Given the description of an element on the screen output the (x, y) to click on. 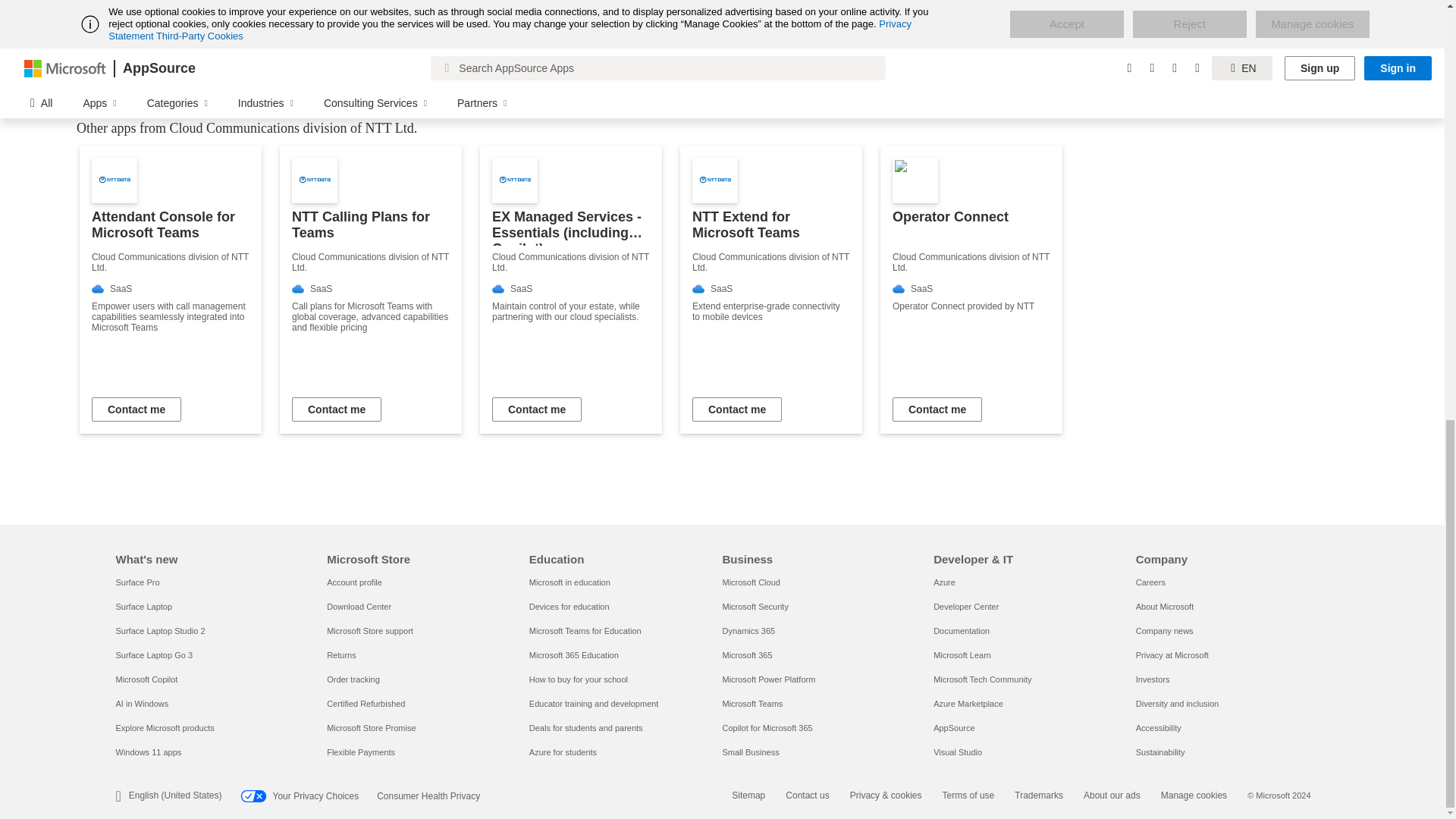
Contact me (936, 409)
Surface Pro (136, 582)
Contact me (336, 409)
Contact me (737, 409)
Contact me (135, 409)
Surface Laptop (143, 605)
Contact me (536, 409)
